Given the description of an element on the screen output the (x, y) to click on. 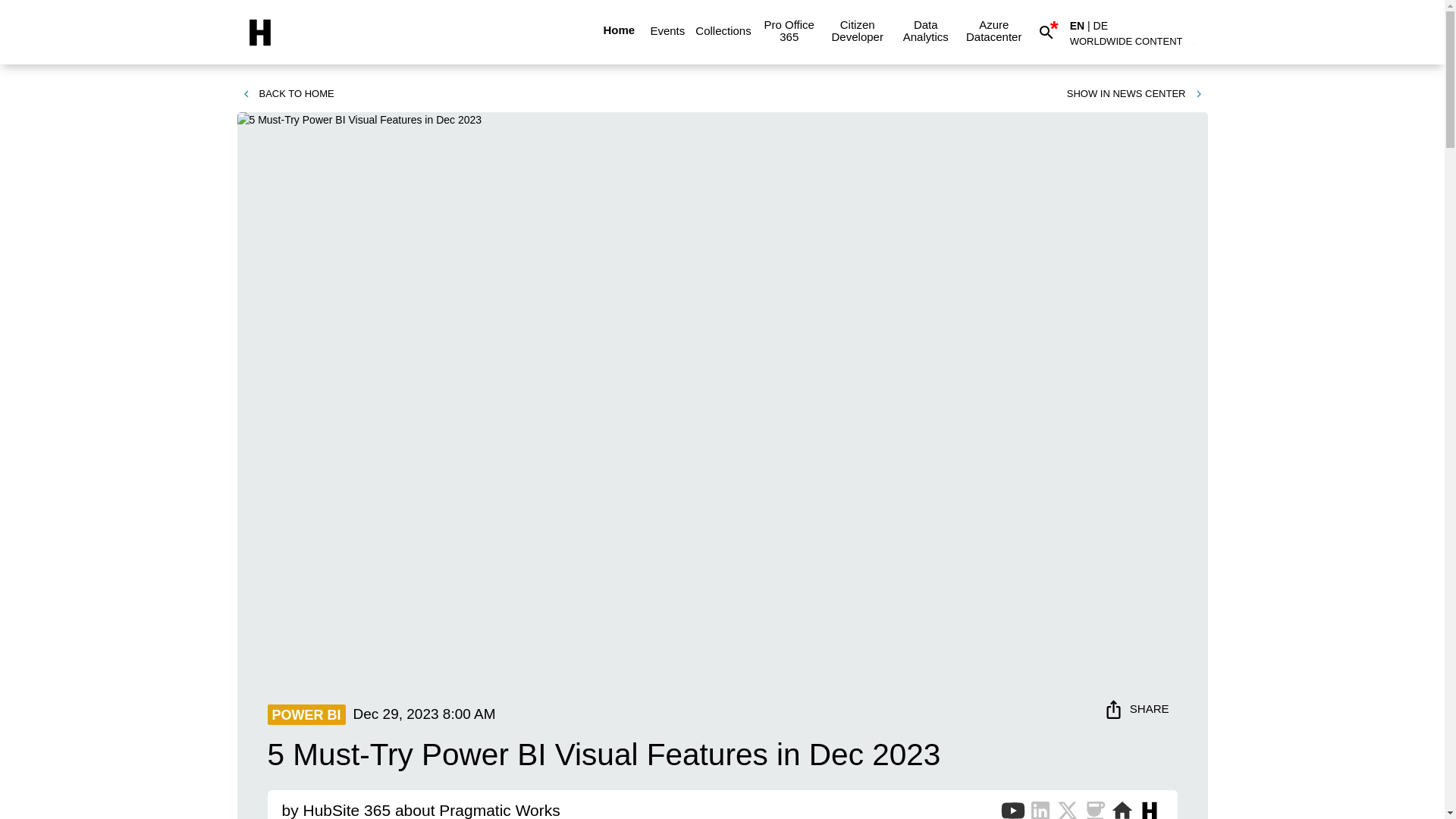
Pro Office 365 (789, 31)
Collections (722, 31)
Citizen Developer (857, 31)
BACK TO HOME (286, 94)
Azure Datacenter (993, 31)
SHARE (1137, 708)
Home (618, 30)
Data Analytics (925, 31)
SHOW IN NEWS CENTER (1135, 94)
Events (667, 31)
